Given the description of an element on the screen output the (x, y) to click on. 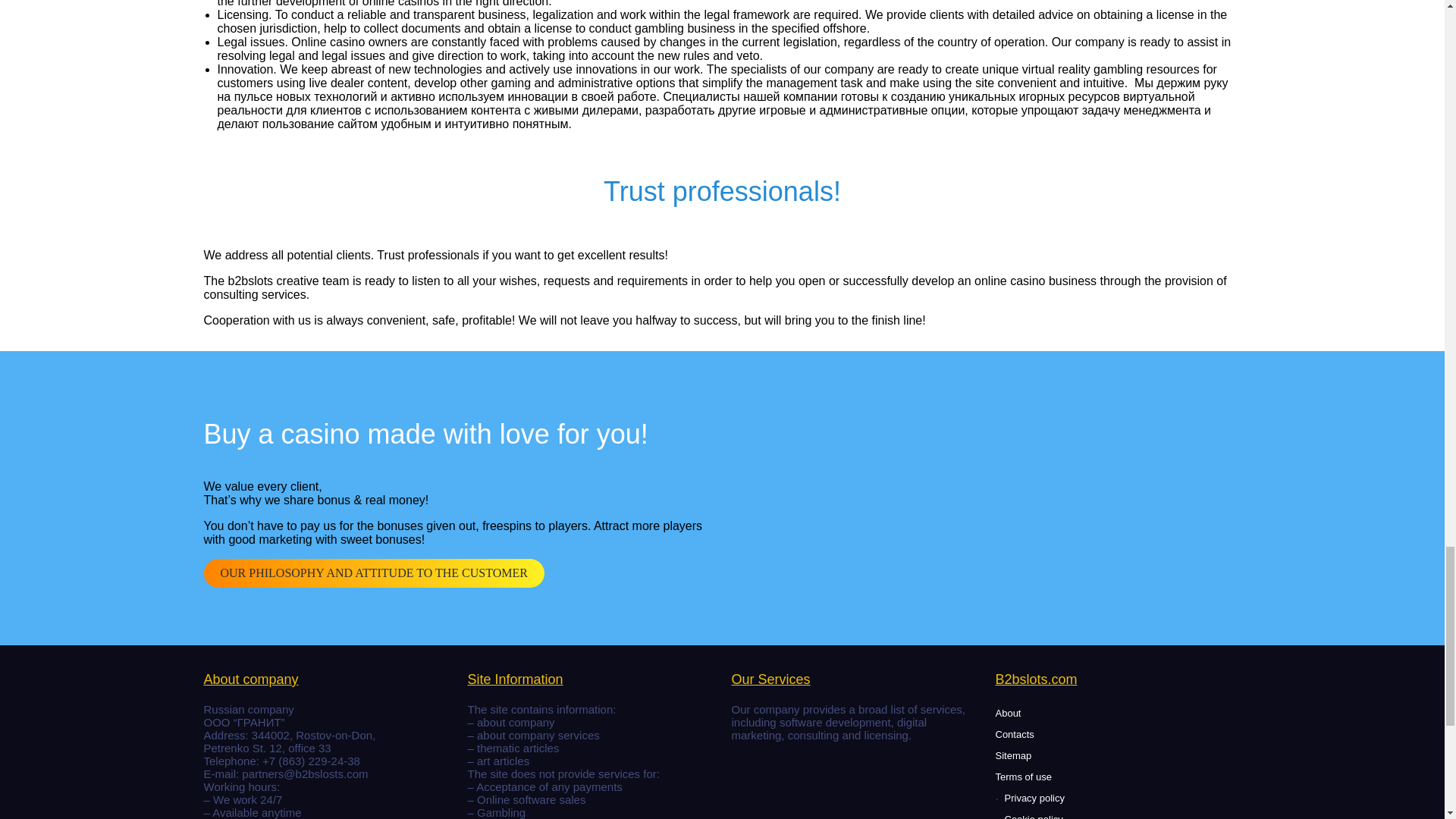
LiveInternet (763, 753)
